Given the description of an element on the screen output the (x, y) to click on. 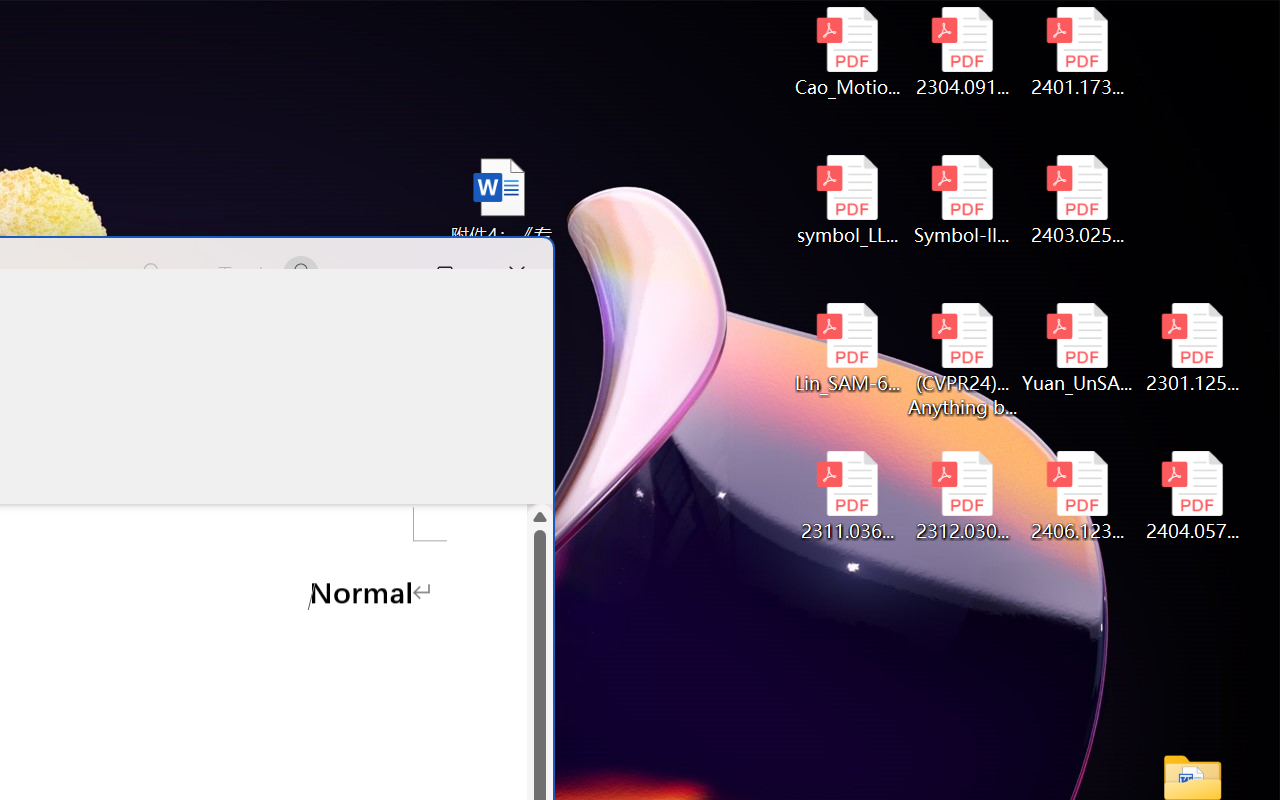
(CVPR24)Matching Anything by Segmenting Anything.pdf (962, 360)
Column right (488, 429)
2311.03658v2.pdf (846, 496)
Symbol-llm-v2.pdf (962, 200)
2312.03032v2.pdf (962, 496)
Drawing Canvas (469, 417)
Ink to Shape (313, 417)
2404.05719v1.pdf (1192, 496)
Help (344, 332)
symbol_LLM.pdf (846, 200)
Search (147, 273)
